Given the description of an element on the screen output the (x, y) to click on. 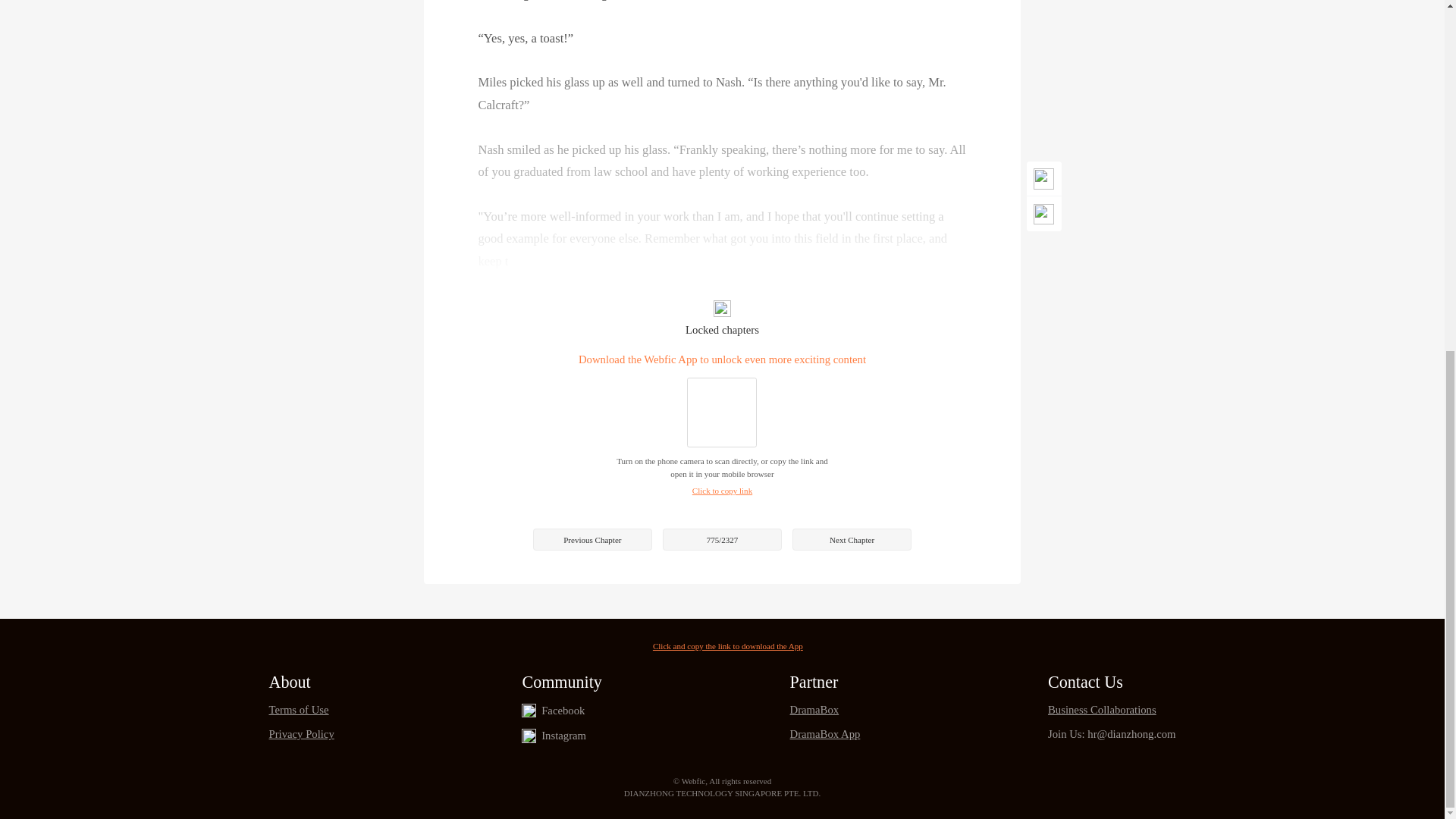
DramaBox App (825, 734)
Privacy Policy (300, 734)
Previous Chapter (591, 539)
DramaBox (825, 709)
Instagram (563, 735)
Next Chapter (851, 539)
Terms of Use (300, 709)
Business Collaborations (1112, 709)
Facebook (563, 710)
